Given the description of an element on the screen output the (x, y) to click on. 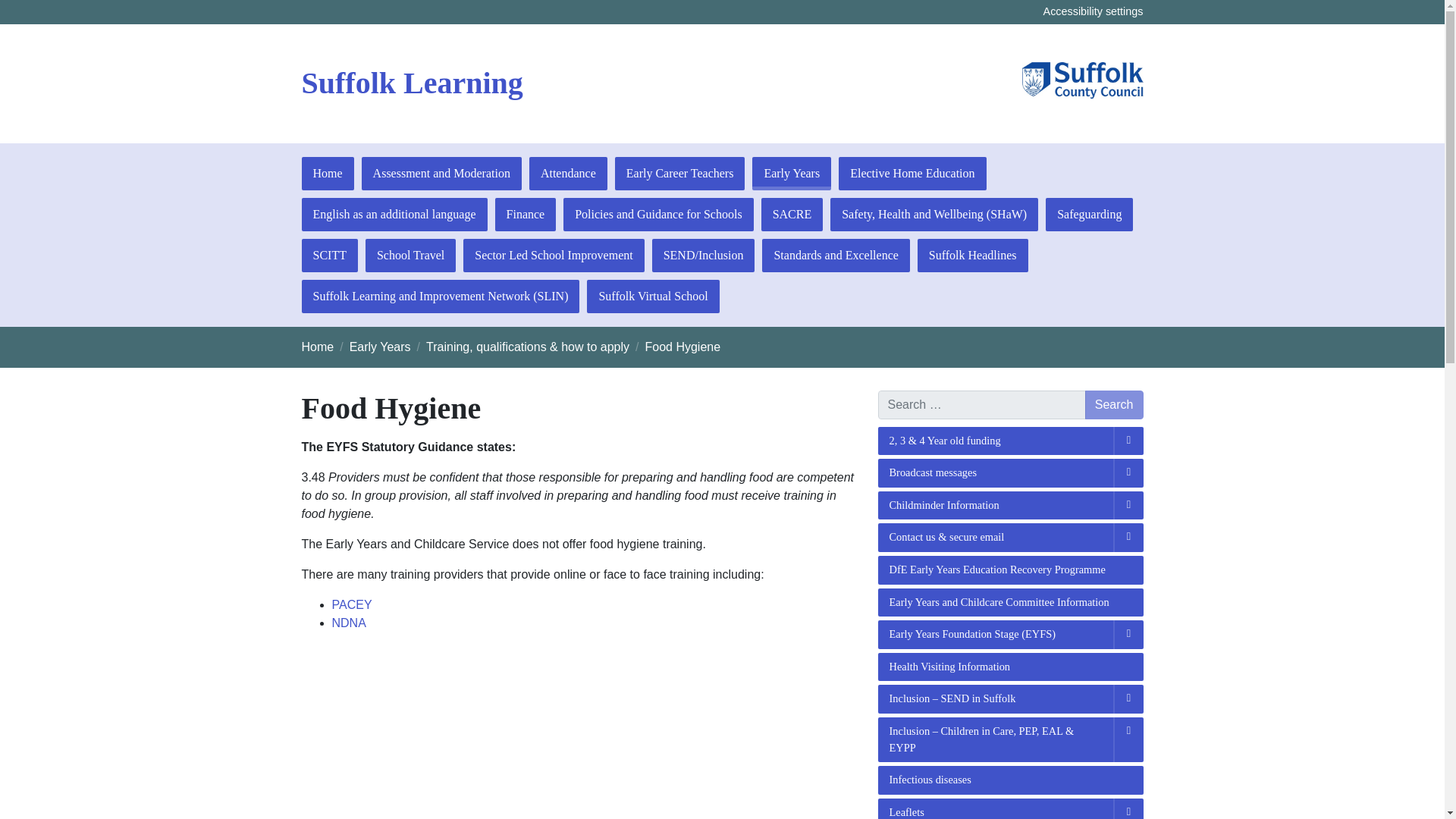
Safeguarding (1088, 214)
Assessment and Moderation (441, 173)
Search (1113, 404)
SCITT (329, 255)
Early Career Teachers (679, 173)
Suffolk Learning (411, 83)
Elective Home Education (911, 173)
School Travel (410, 255)
SACRE (792, 214)
SACRE (792, 214)
Accessibility settings (1092, 10)
English as an additional language (394, 214)
Policies and Guidance for Schools (657, 214)
Sector Led School Improvement (553, 255)
PACEY (351, 604)
